Given the description of an element on the screen output the (x, y) to click on. 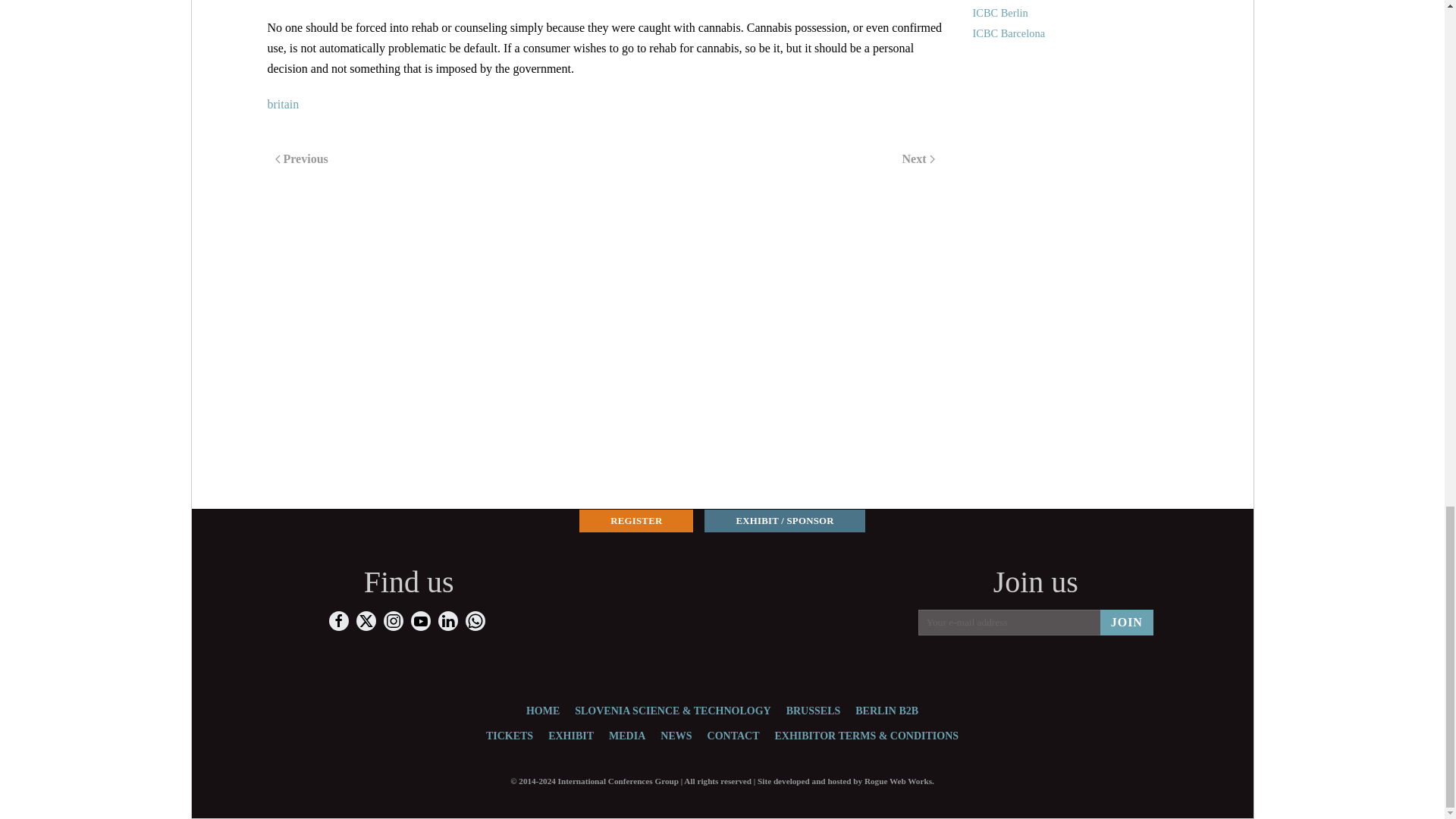
JOIN (1126, 622)
